Given the description of an element on the screen output the (x, y) to click on. 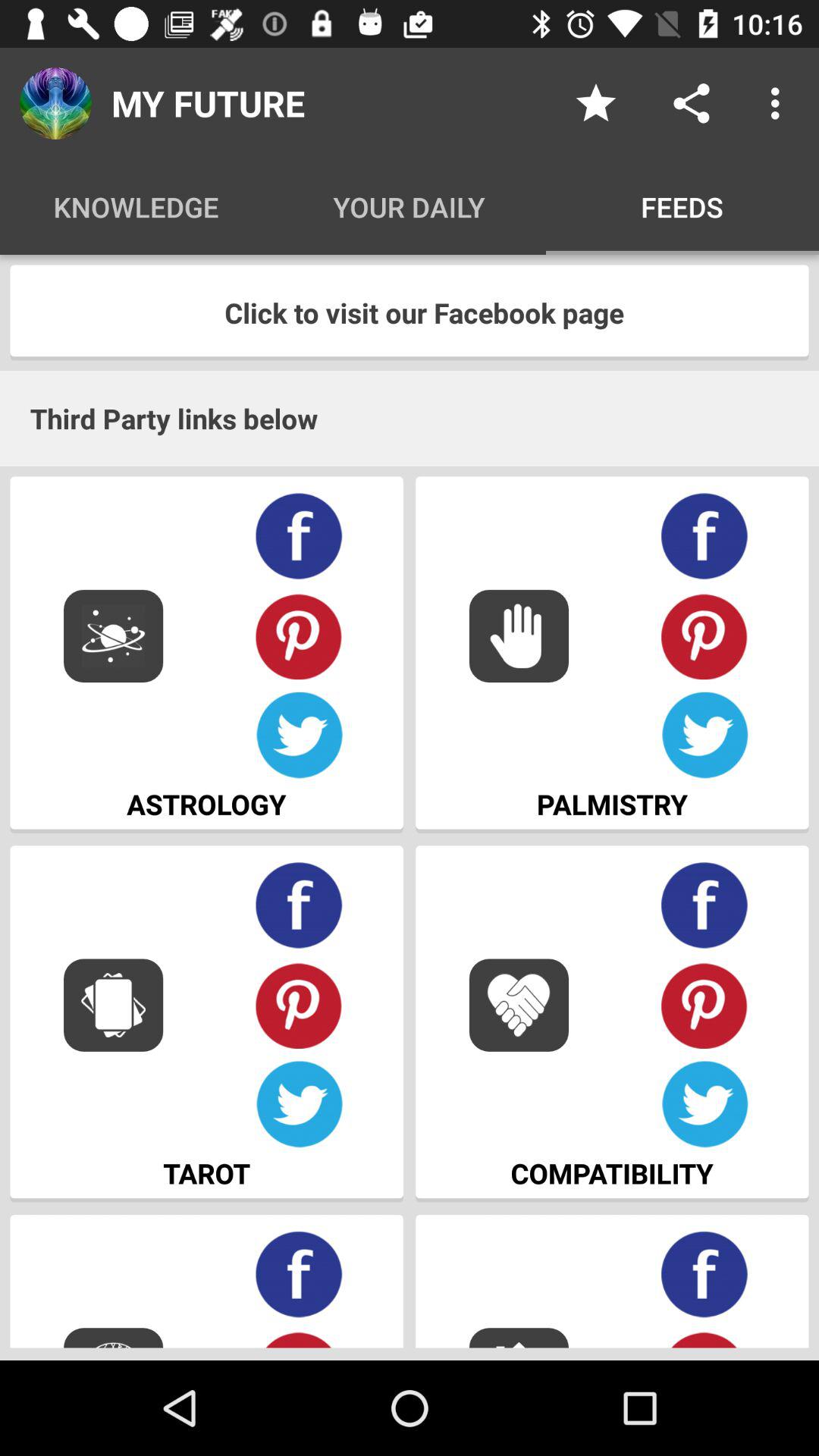
fb logo (704, 1274)
